Given the description of an element on the screen output the (x, y) to click on. 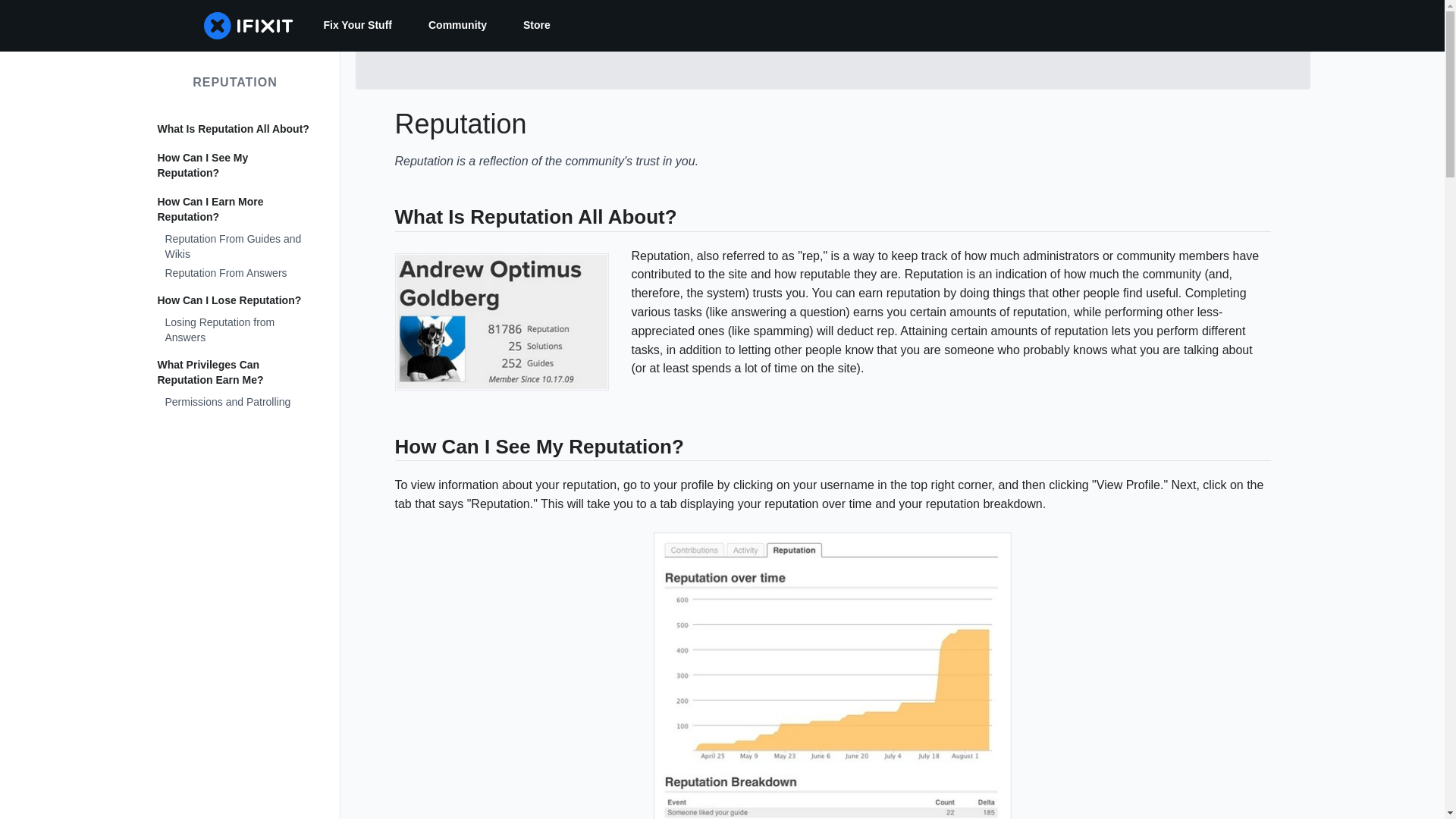
What Privileges Can Reputation Earn Me? (235, 372)
Community (457, 25)
How Can I See My Reputation? (235, 165)
Losing Reputation from Answers (235, 330)
How Can I Lose Reputation? (235, 300)
REPUTATION (234, 82)
Link to this section (386, 219)
How Can I Earn More Reputation? (235, 210)
What Is Reputation All About? (235, 129)
Permissions and Patrolling (235, 403)
